Given the description of an element on the screen output the (x, y) to click on. 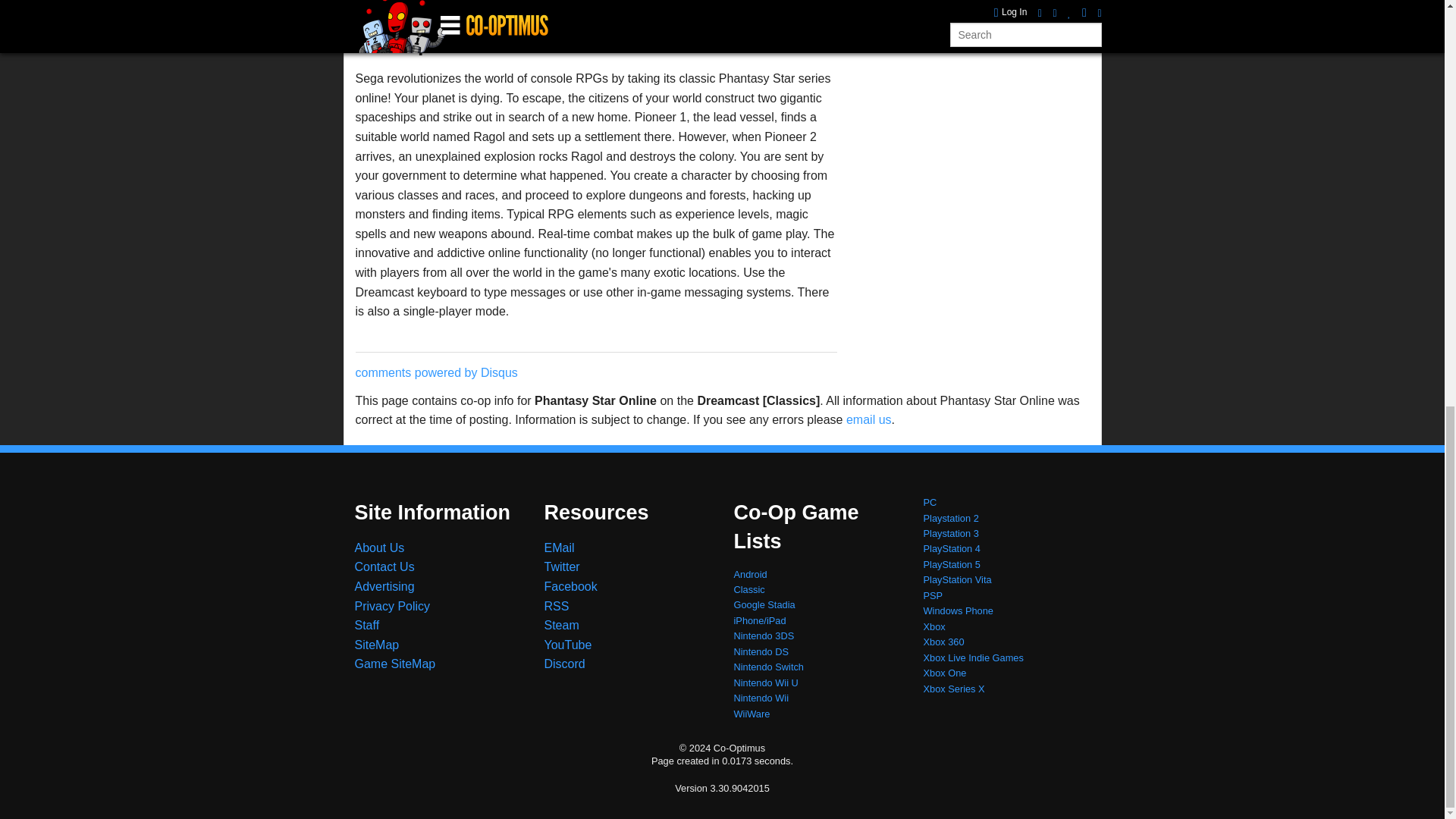
comments powered by Disqus (435, 372)
Our current staff and bios. (367, 625)
Advertising rates and traffic numbers. (384, 585)
Join our Steam Group! (561, 625)
